Given the description of an element on the screen output the (x, y) to click on. 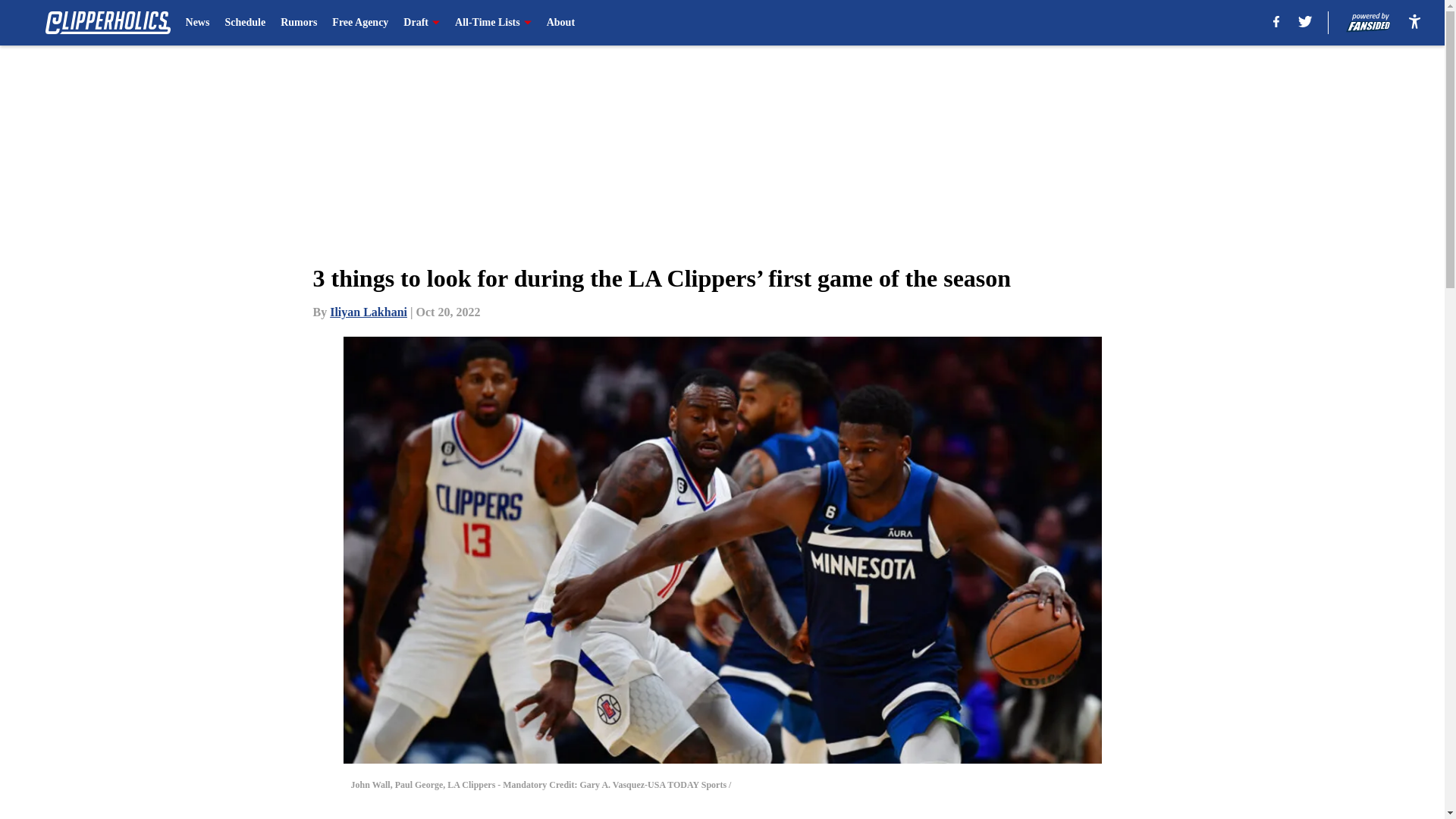
All-Time Lists (492, 22)
Iliyan Lakhani (368, 311)
Schedule (244, 22)
Draft (421, 22)
About (561, 22)
Rumors (299, 22)
News (197, 22)
Free Agency (359, 22)
